Given the description of an element on the screen output the (x, y) to click on. 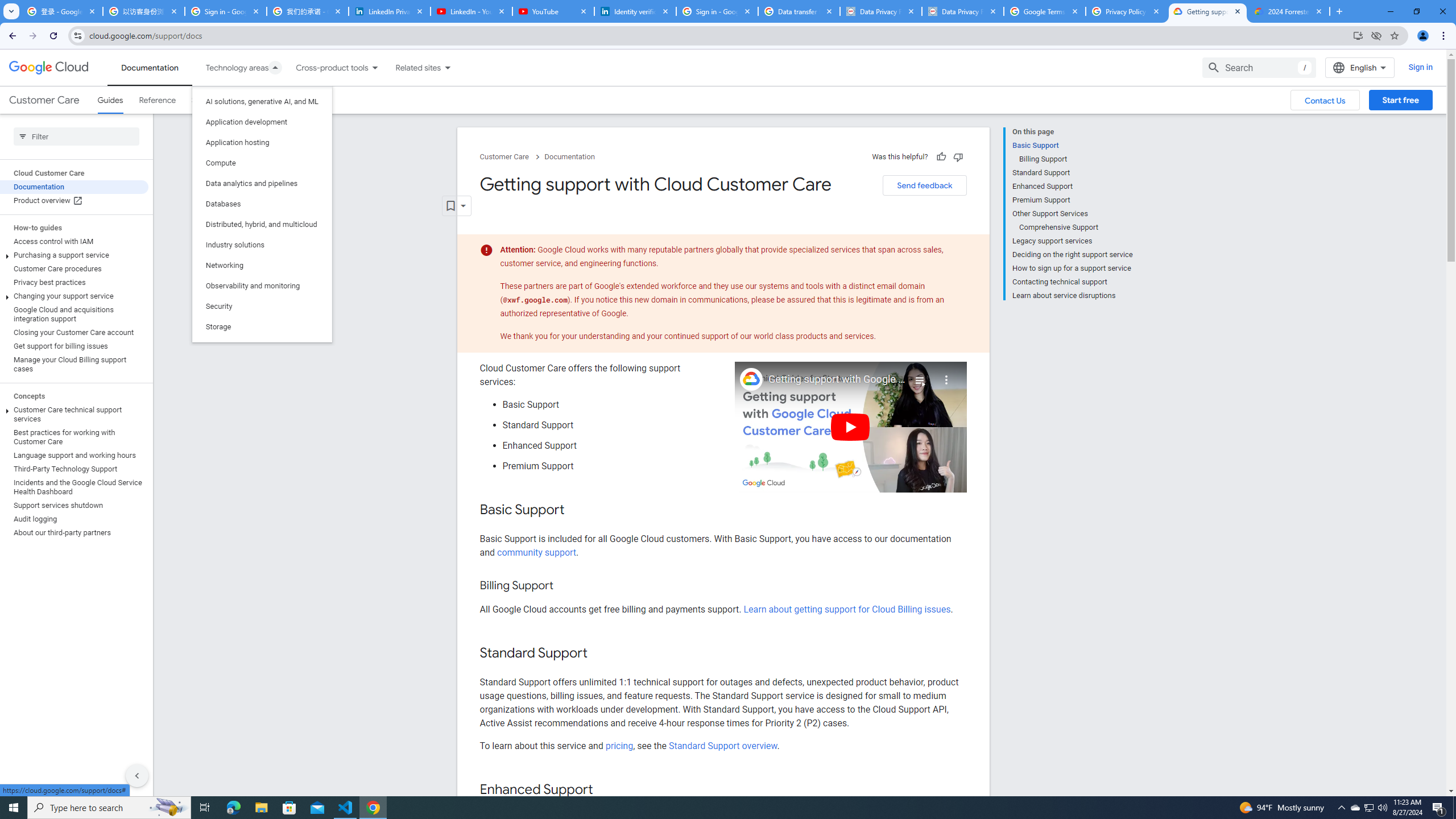
English (1359, 67)
Copy link to this section: Standard Support (599, 653)
Start free (1400, 100)
Enhanced Support (1071, 186)
Contact Us (1324, 100)
Data Privacy Framework (880, 11)
Related sites (411, 67)
More (946, 375)
Hide side navigation (136, 775)
Sign in - Google Accounts (225, 11)
Google Cloud (48, 67)
